Given the description of an element on the screen output the (x, y) to click on. 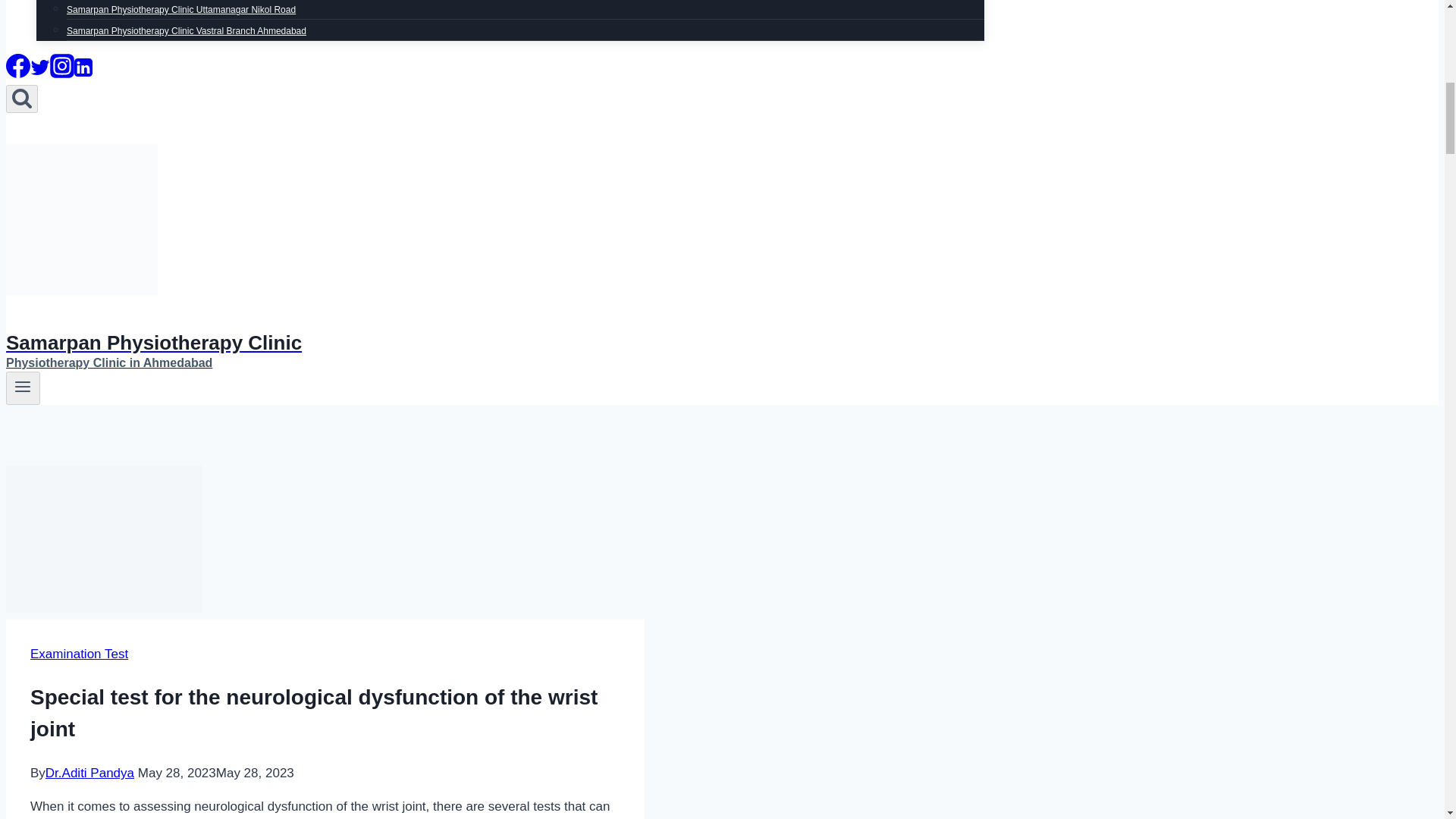
Instagram (61, 73)
Toggle Menu (22, 387)
Search (21, 97)
Facebook (17, 73)
Linkedin (83, 73)
Examination Test (79, 653)
Search (21, 99)
Physiotherapy Clinic Near Rabari Colony Char Rasta (172, 1)
Toggle Menu (22, 386)
Twitter (39, 73)
Dr.Aditi Pandya (89, 772)
Facebook (17, 65)
Samarpan Physiotherapy Clinic Vastral Branch Ahmedabad (185, 30)
Samarpan Physiotherapy Clinic Uttamanagar Nikol Road (180, 12)
